Given the description of an element on the screen output the (x, y) to click on. 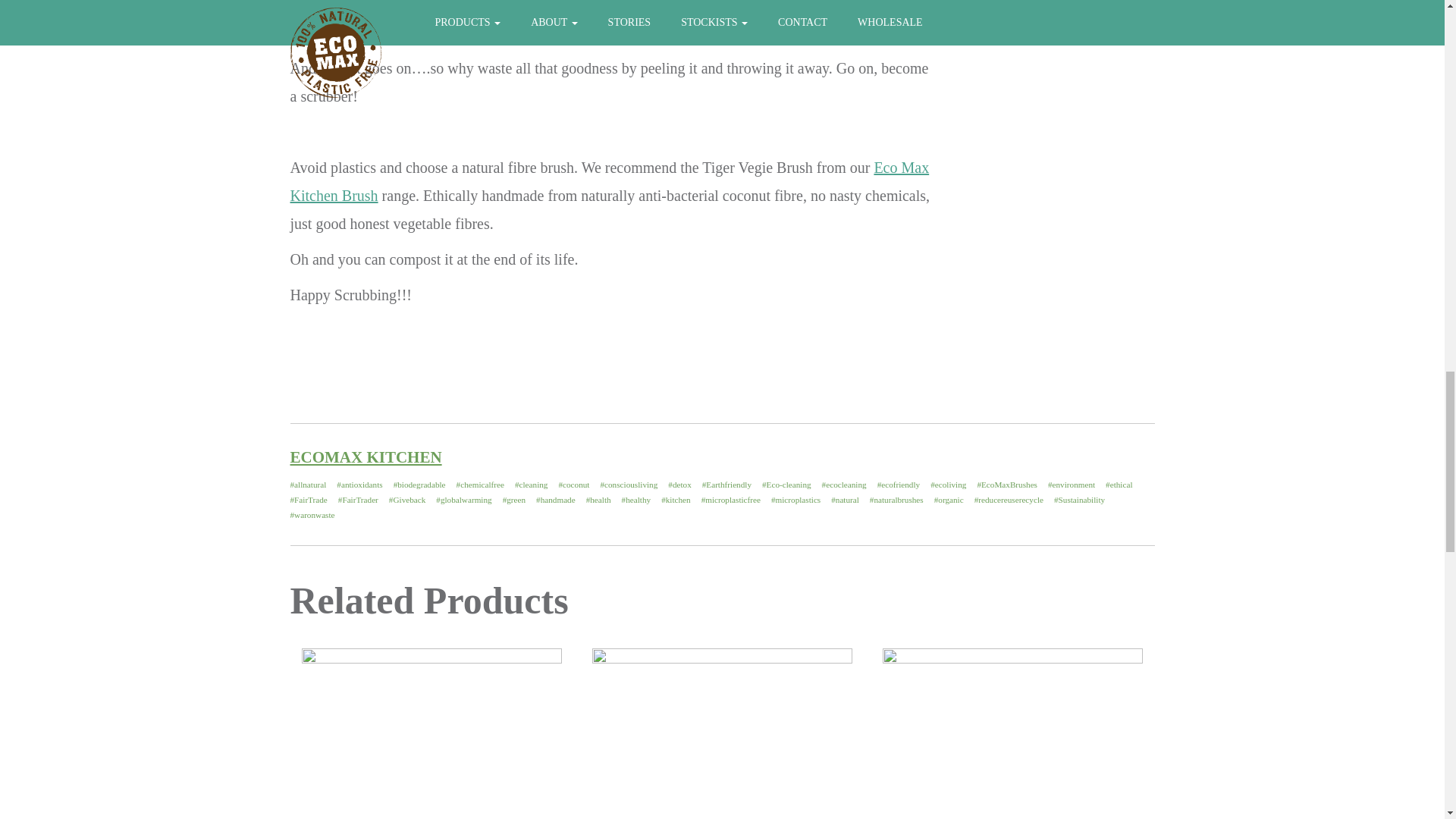
antioxidants (358, 484)
ECOMAX KITCHEN (365, 456)
allnatural (307, 484)
biodegradable (419, 484)
chemicalfree (480, 484)
Eco Max Kitchen Brush (608, 180)
